Given the description of an element on the screen output the (x, y) to click on. 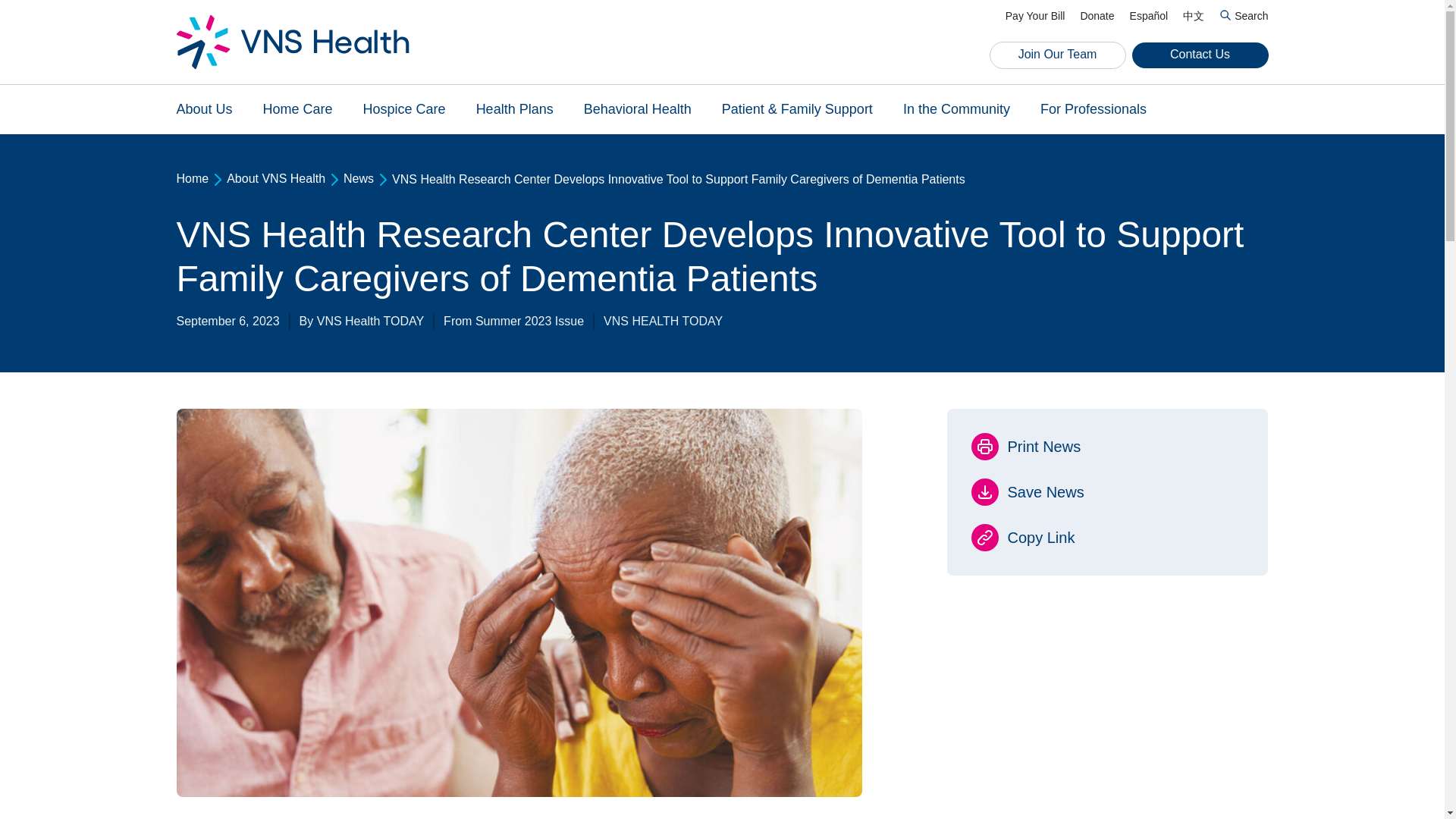
Contact Us (1199, 54)
Join Our Team (1056, 54)
Search (1244, 16)
Pay Your Bill (1035, 16)
About Us (203, 108)
Donate (1096, 16)
Home Care (298, 108)
